Given the description of an element on the screen output the (x, y) to click on. 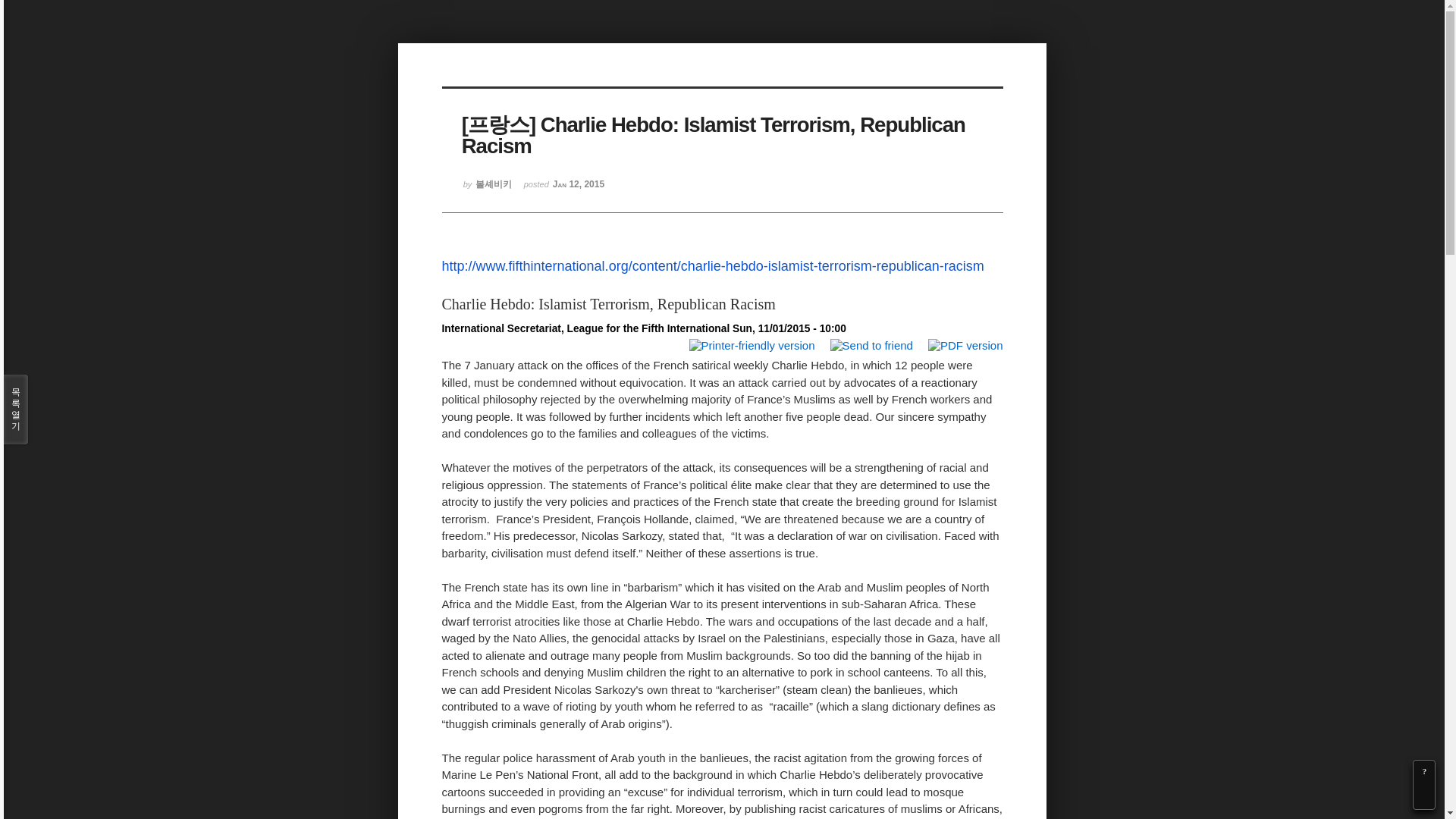
PDF version (963, 345)
Display a printer-friendly version of this page. (750, 343)
Printer-friendly version (750, 345)
Send this page by e-mail. (869, 343)
Send to friend (869, 345)
? (1423, 771)
Display a PDF version of this page. (963, 343)
2015.01.12 08:16 (563, 190)
